Given the description of an element on the screen output the (x, y) to click on. 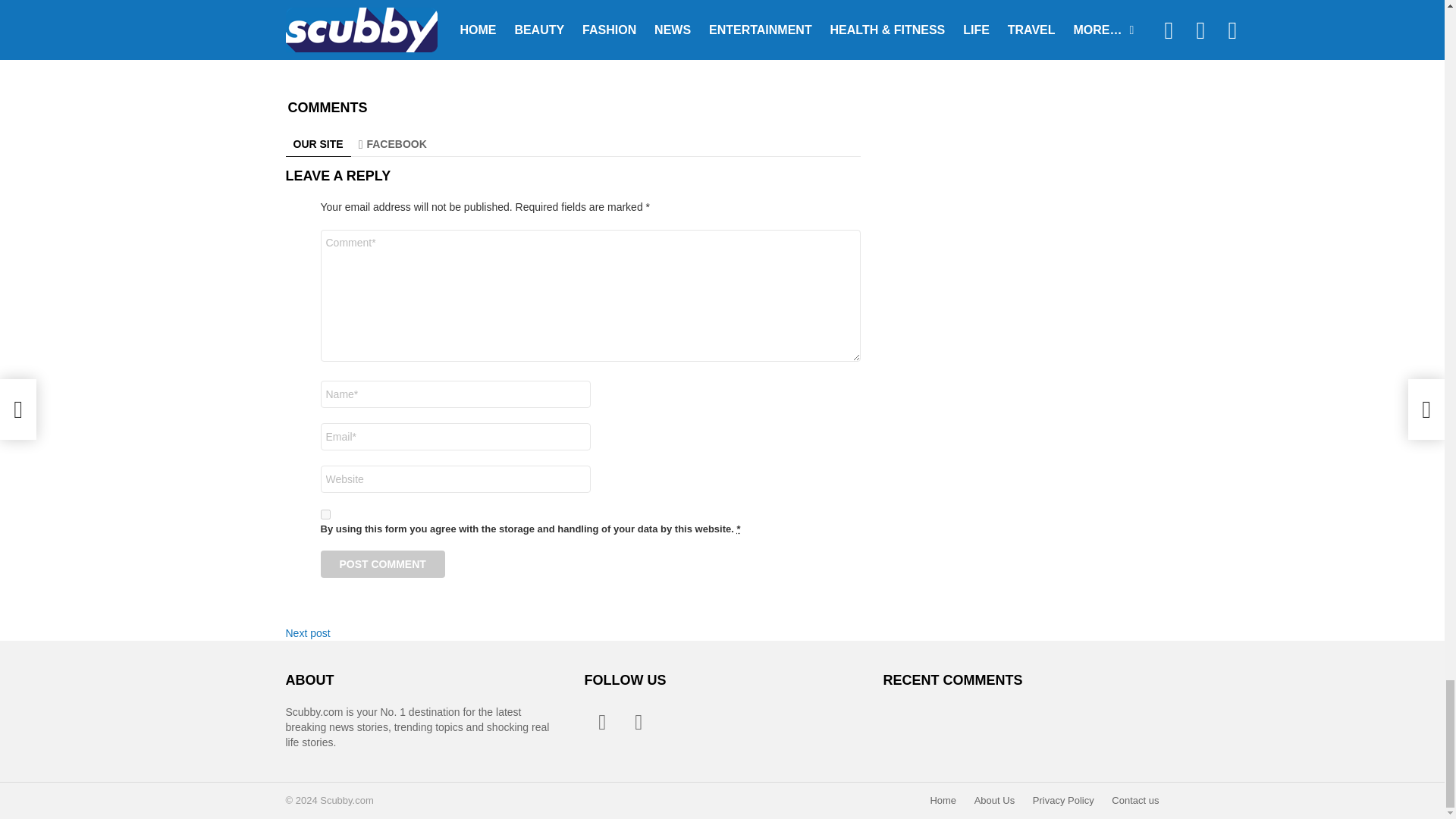
Post Comment (382, 564)
1 (325, 514)
Post Comment (382, 564)
FACEBOOK (391, 144)
Next post (307, 633)
OUR SITE (317, 144)
